Given the description of an element on the screen output the (x, y) to click on. 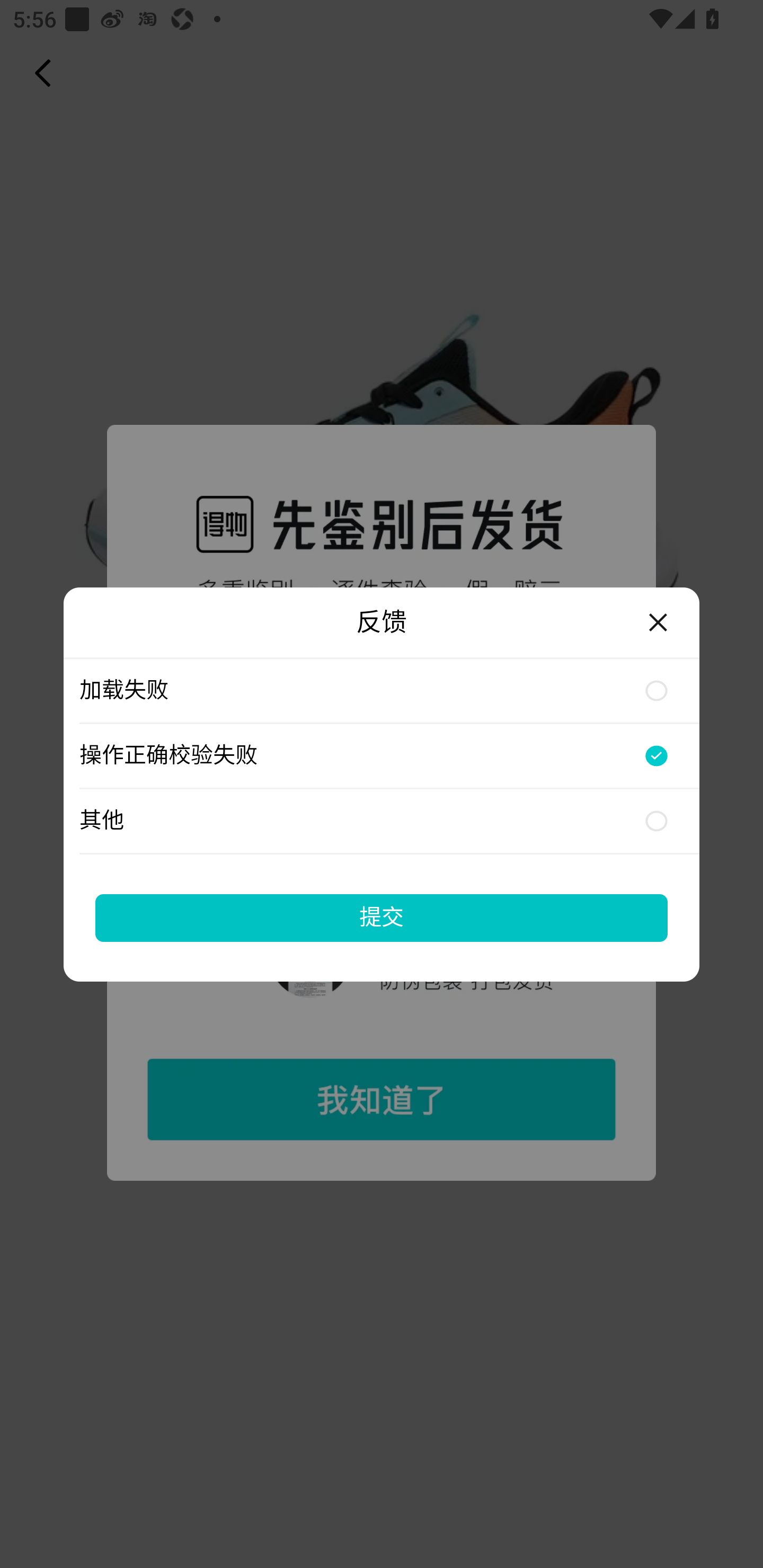
提交 (381, 917)
